Given the description of an element on the screen output the (x, y) to click on. 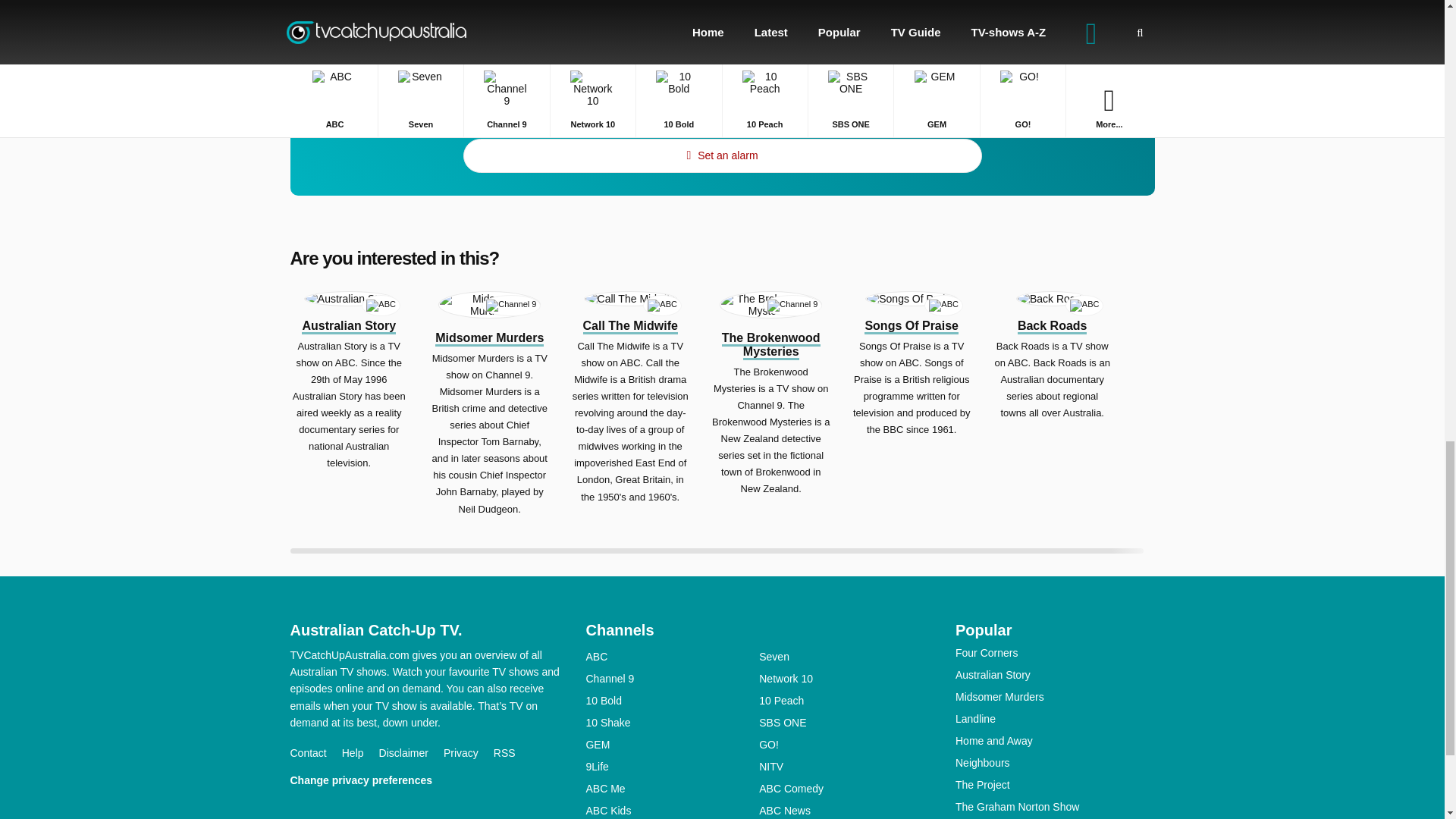
Set an alarm (722, 155)
Midsomer Murders (489, 338)
Australian Story (348, 325)
